Given the description of an element on the screen output the (x, y) to click on. 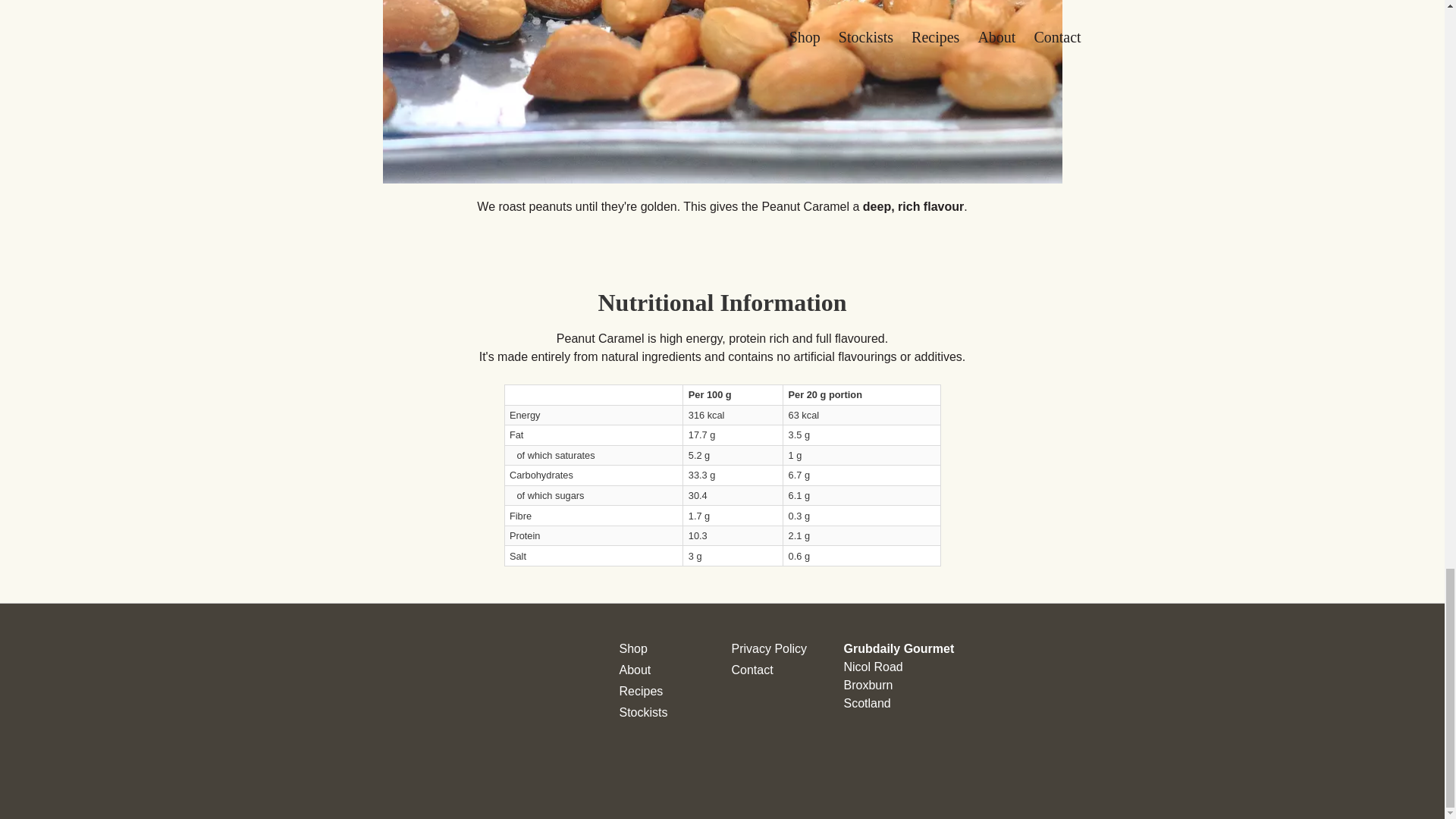
Stockists (642, 712)
Shop (632, 648)
Contact (751, 669)
About (634, 669)
Recipes (640, 690)
Privacy Policy (768, 648)
